Given the description of an element on the screen output the (x, y) to click on. 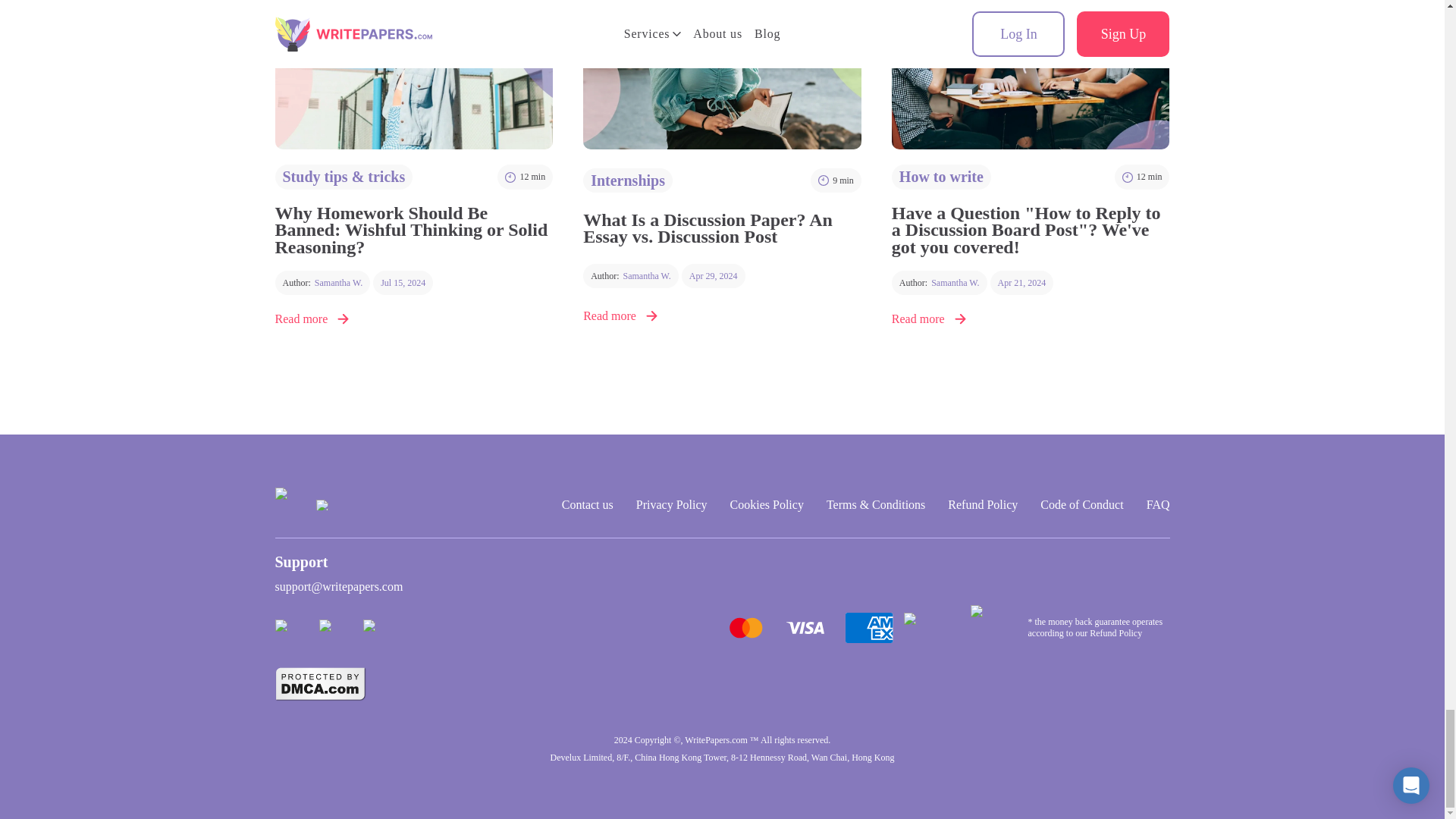
DMCA.com Protection Status (320, 683)
Read more (322, 282)
